Given the description of an element on the screen output the (x, y) to click on. 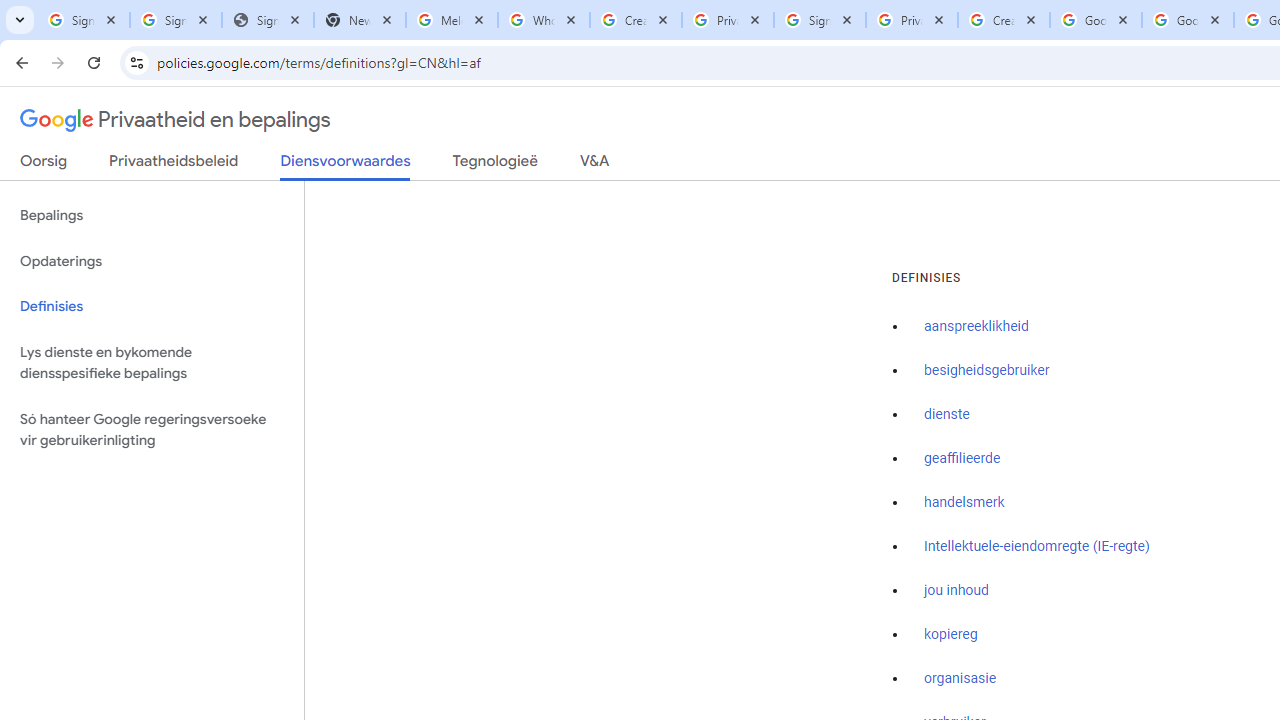
Sign in - Google Accounts (83, 20)
Privaatheid en bepalings (175, 120)
Privaatheidsbeleid (173, 165)
geaffilieerde (962, 459)
Sign in - Google Accounts (175, 20)
besigheidsgebruiker (986, 371)
Intellektuele-eiendomregte (IE-regte) (1036, 546)
